Given the description of an element on the screen output the (x, y) to click on. 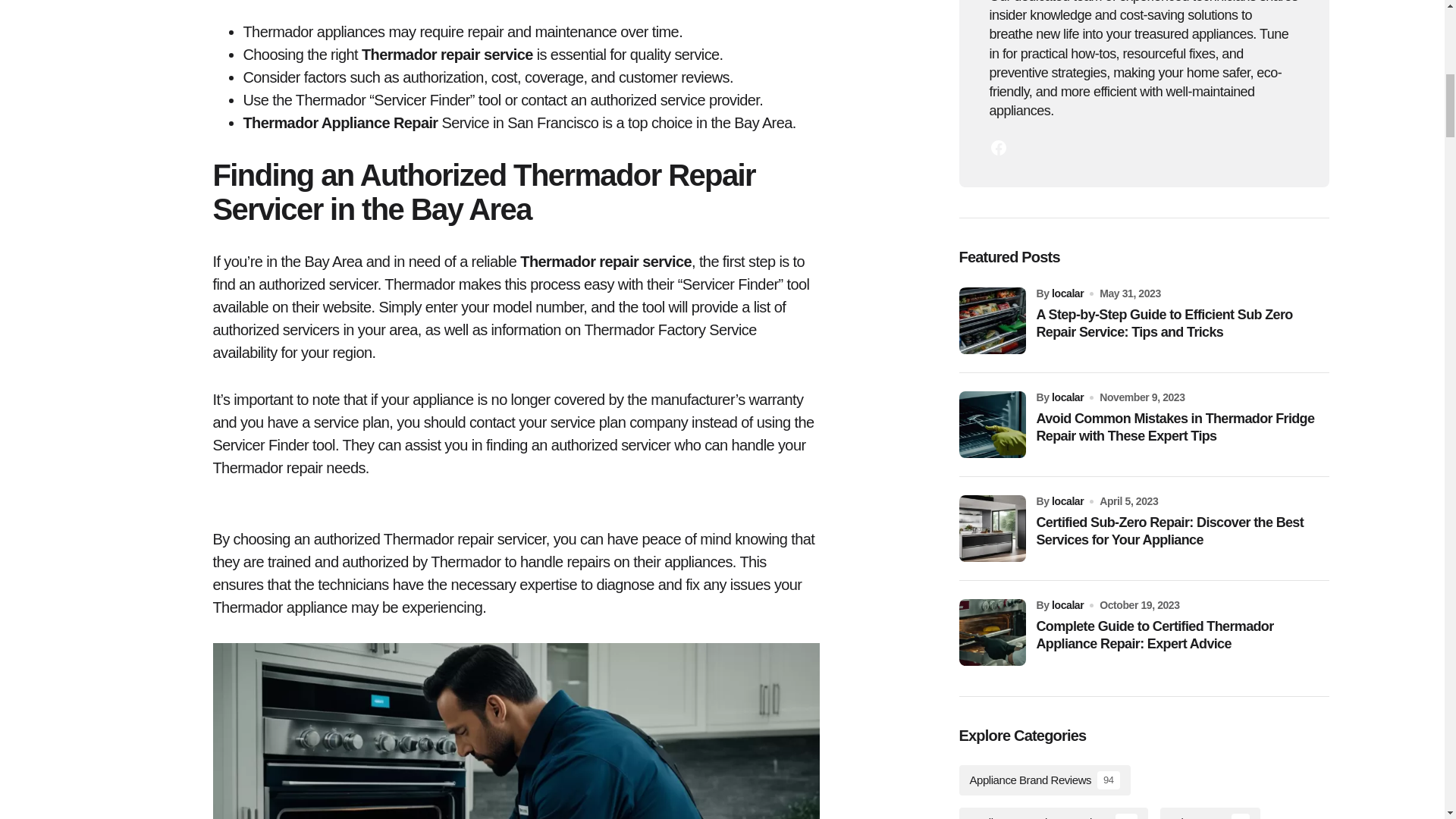
bay area thermador repair (515, 730)
